Given the description of an element on the screen output the (x, y) to click on. 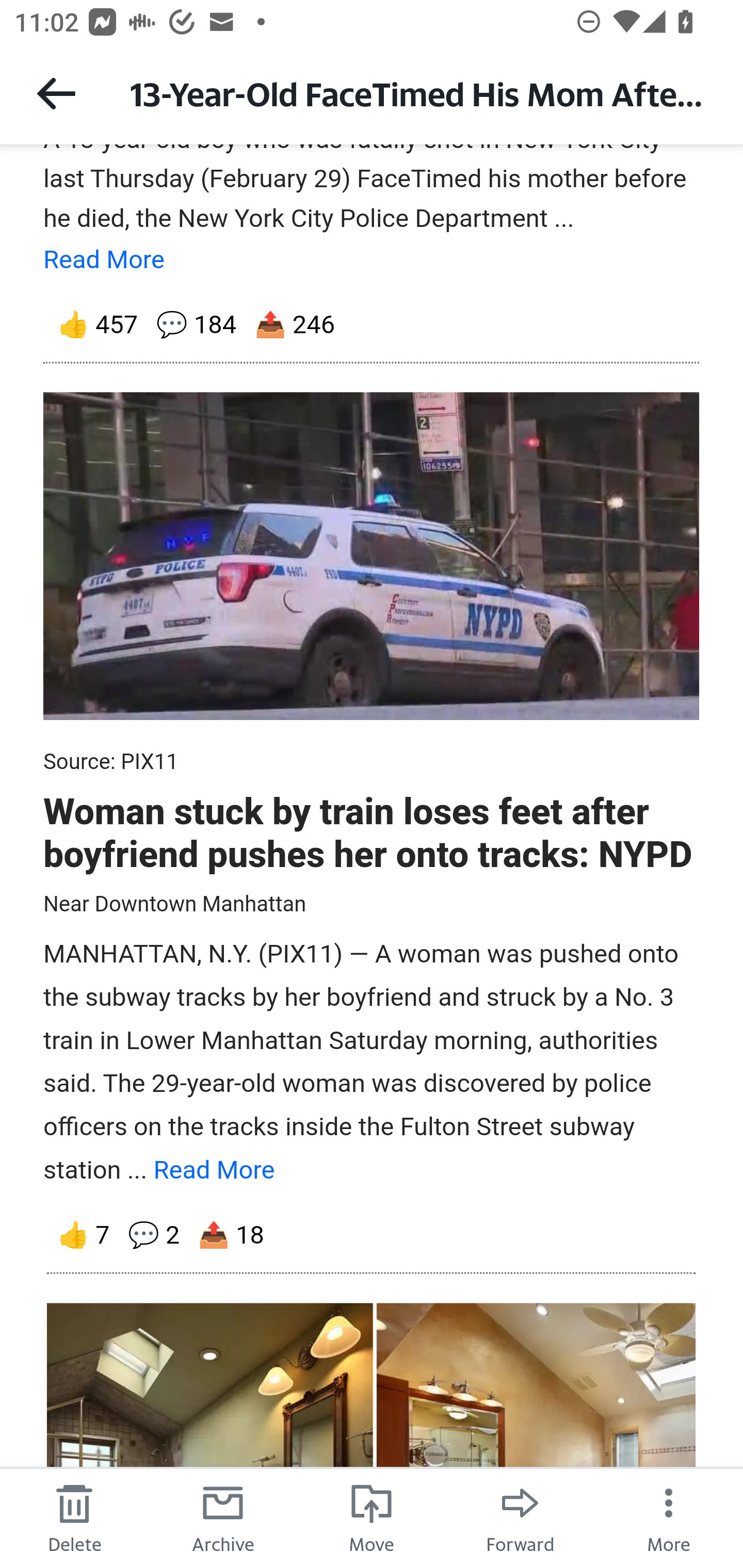
Back (55, 92)
👍 457   💬 184   📤 246 (371, 324)
2 local news image (371, 556)
👍 7   💬 2   📤 18 (371, 1235)
Delete (74, 1517)
Archive (222, 1517)
Move (371, 1517)
Forward (519, 1517)
More (668, 1517)
